Given the description of an element on the screen output the (x, y) to click on. 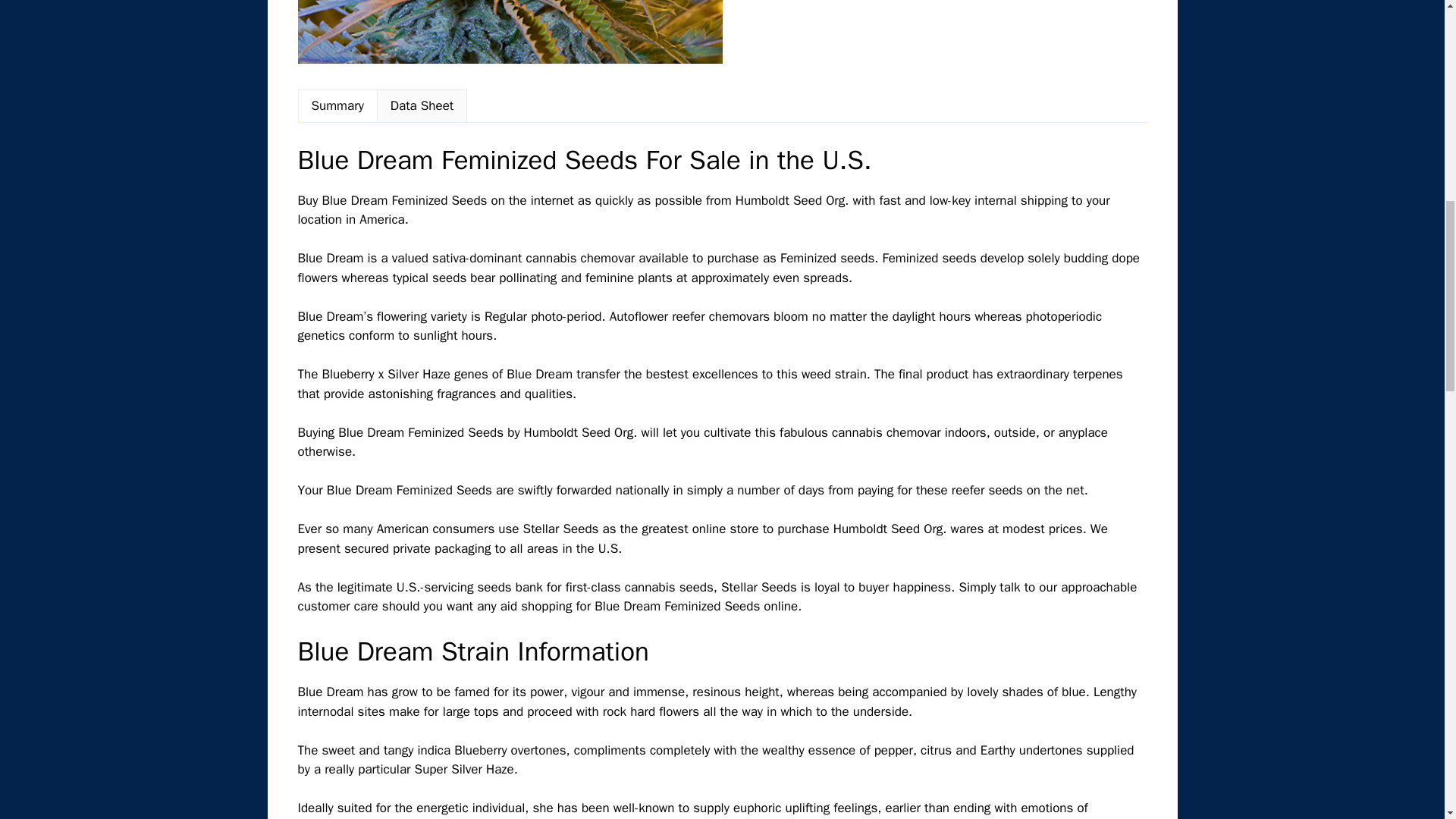
Scroll back to top (1406, 720)
Blue Dream Feminized Seeds (509, 31)
